Given the description of an element on the screen output the (x, y) to click on. 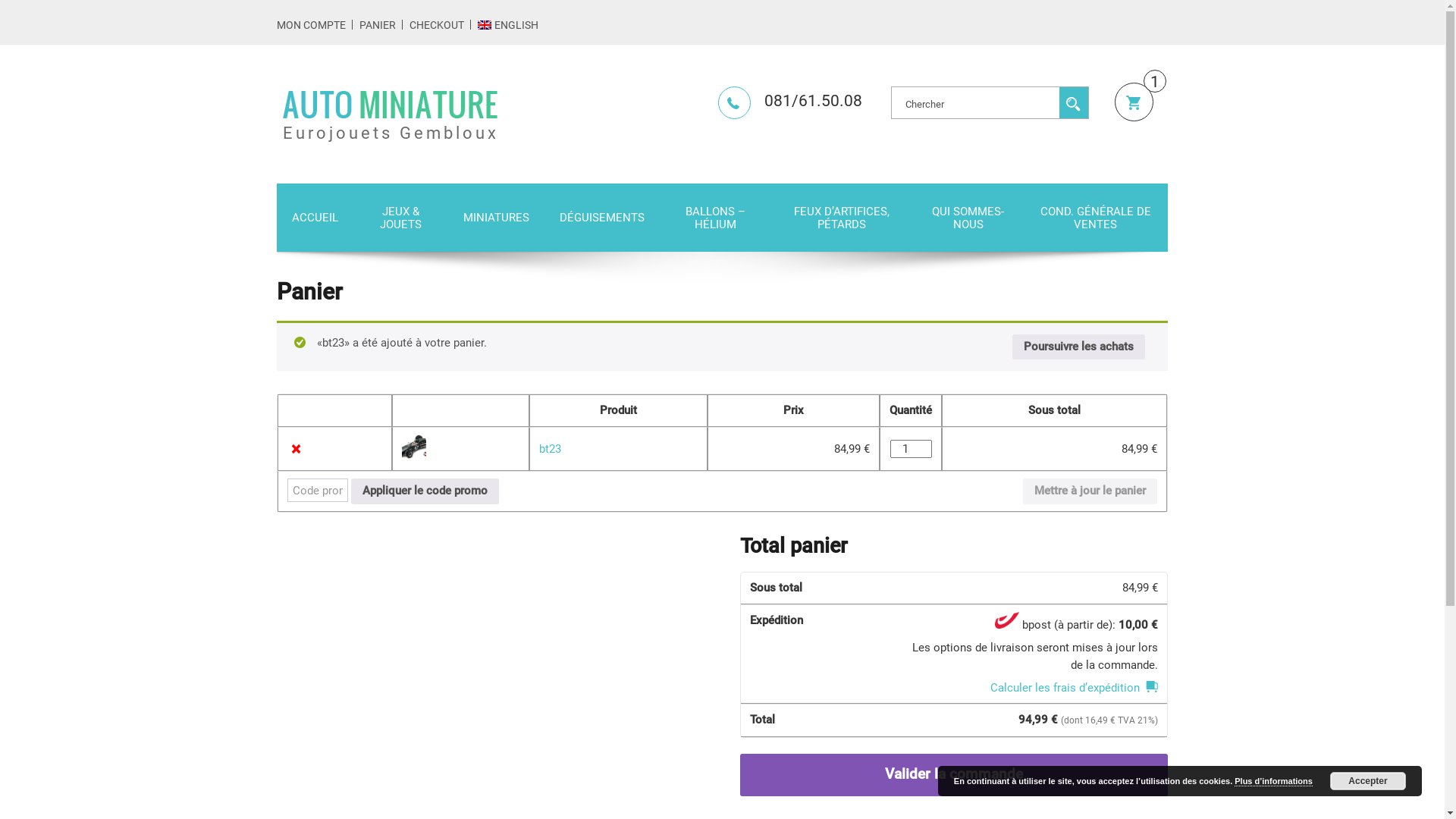
MINIATURES Element type: text (496, 216)
ENGLISH Element type: text (507, 24)
ACCUEIL Element type: text (314, 216)
Panier
1 Element type: text (1133, 101)
PANIER Element type: text (377, 24)
MON COMPTE Element type: text (310, 24)
081/61.50.08 Element type: text (790, 100)
Appliquer le code promo Element type: text (424, 491)
Poster Element type: text (1073, 102)
JEUX & JOUETS Element type: text (400, 217)
CHECKOUT Element type: text (436, 24)
bt23 Element type: text (550, 448)
Accepter Element type: text (1367, 780)
QUI SOMMES-NOUS Element type: text (968, 217)
Valider la commande Element type: text (953, 774)
Poursuivre les achats Element type: text (1078, 347)
